Given the description of an element on the screen output the (x, y) to click on. 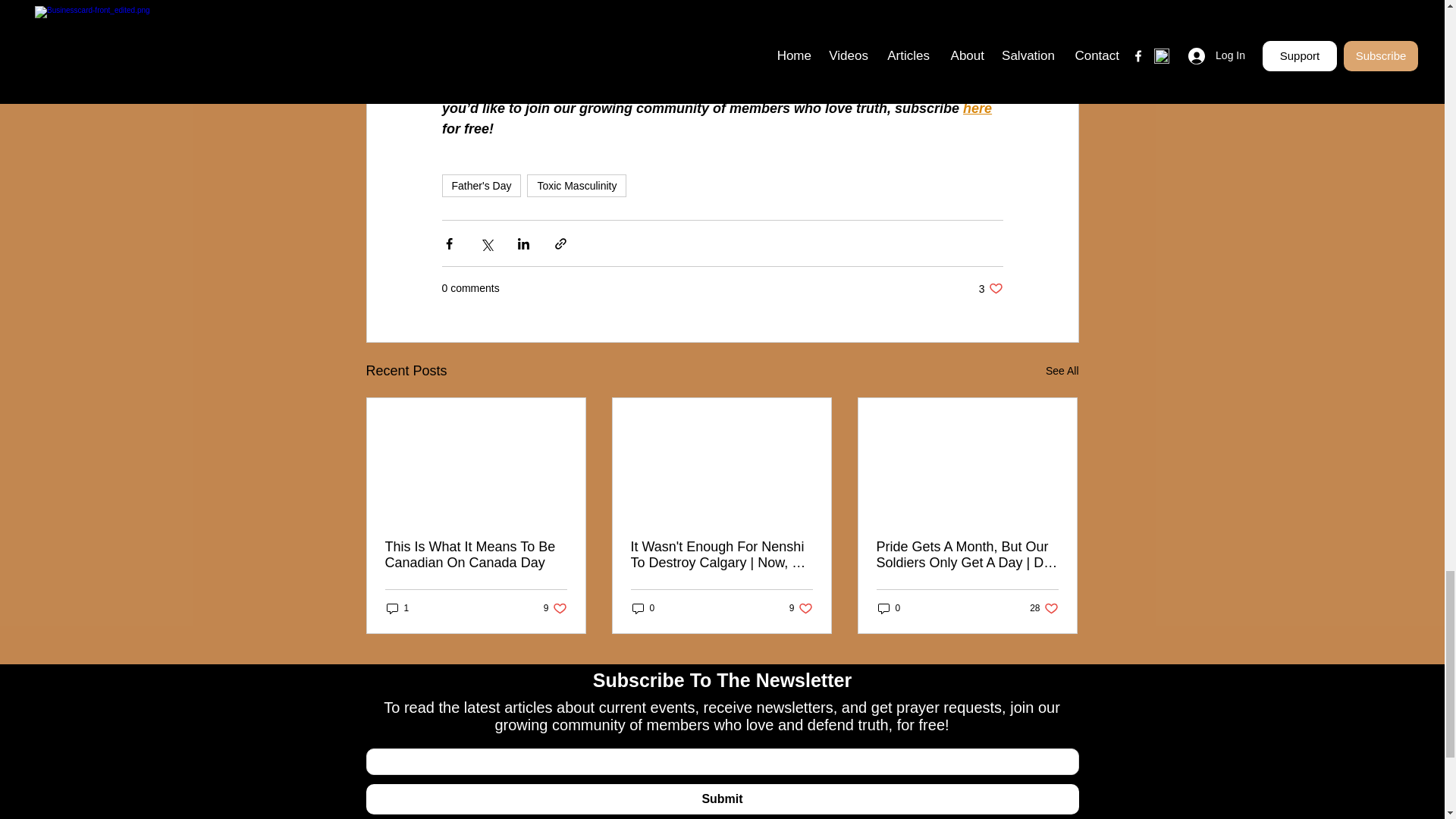
Father's Day (481, 185)
0 (889, 607)
Toxic Masculinity (800, 607)
1 (576, 185)
here (397, 607)
This Is What It Means To Be Canadian On Canada Day (690, 26)
See All (476, 554)
0 (555, 607)
